Given the description of an element on the screen output the (x, y) to click on. 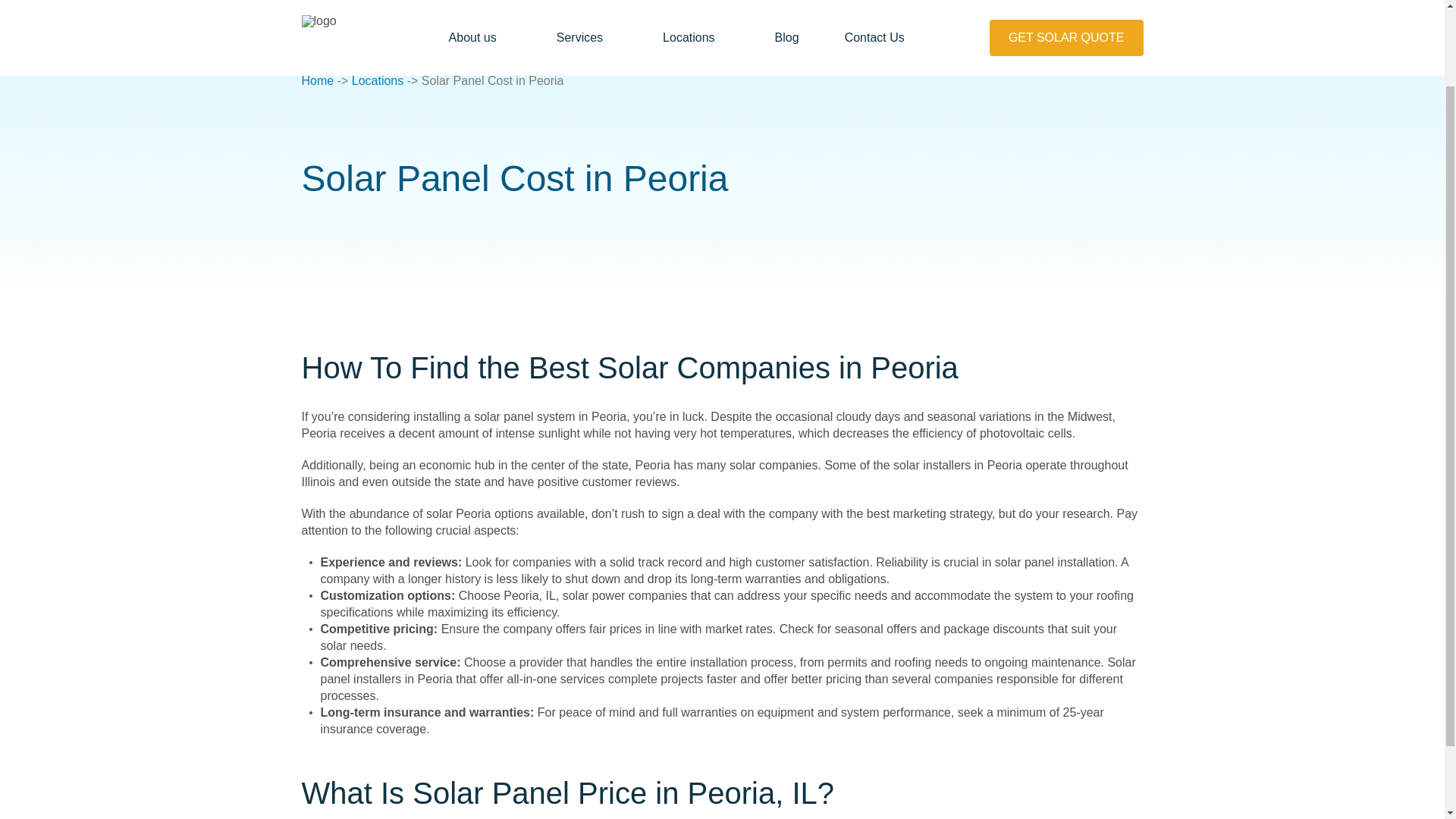
Home (317, 80)
Locations (378, 80)
